Given the description of an element on the screen output the (x, y) to click on. 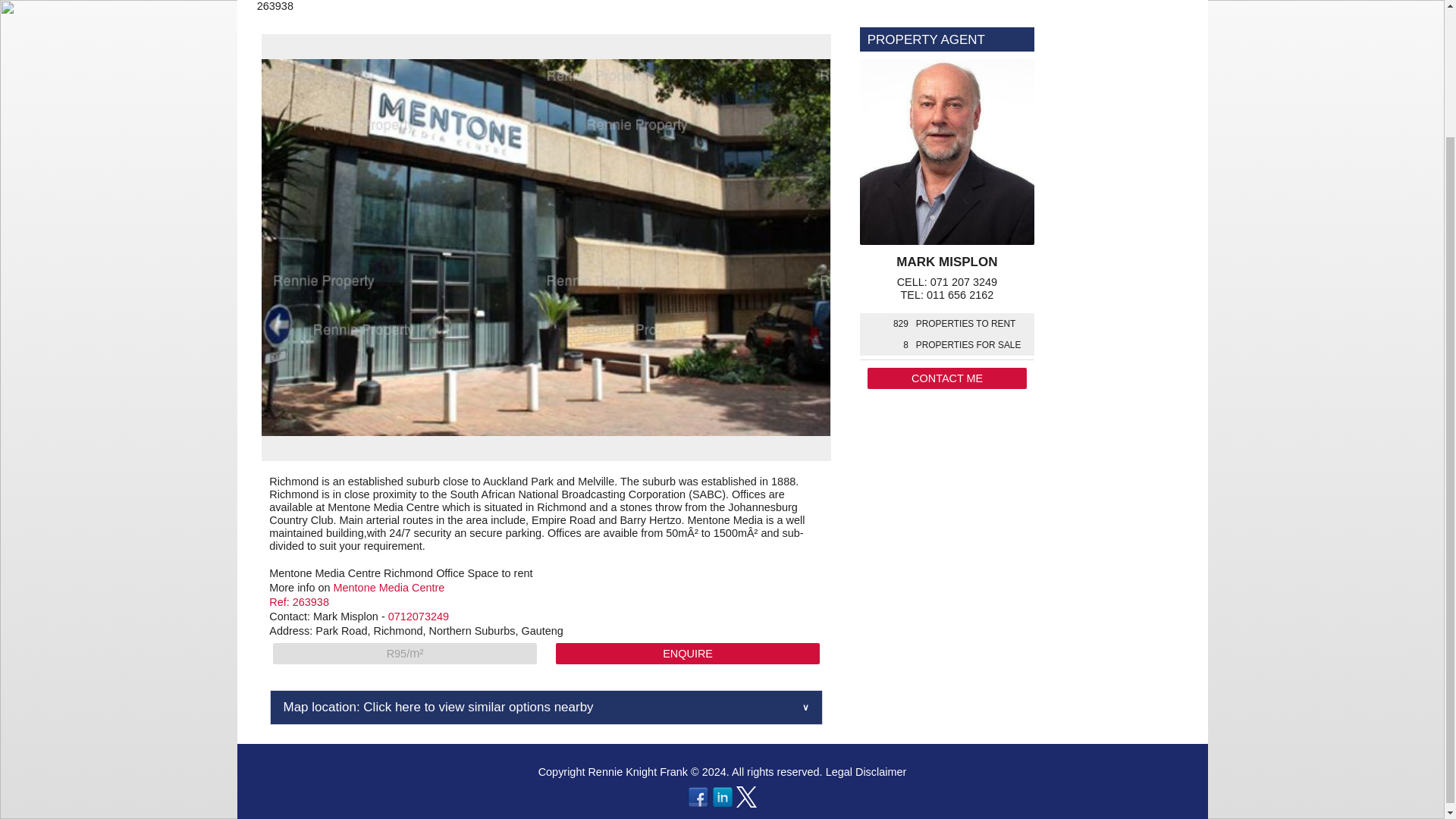
Contact a Real Estate Agent for Office Space in Richmond (687, 653)
